Given the description of an element on the screen output the (x, y) to click on. 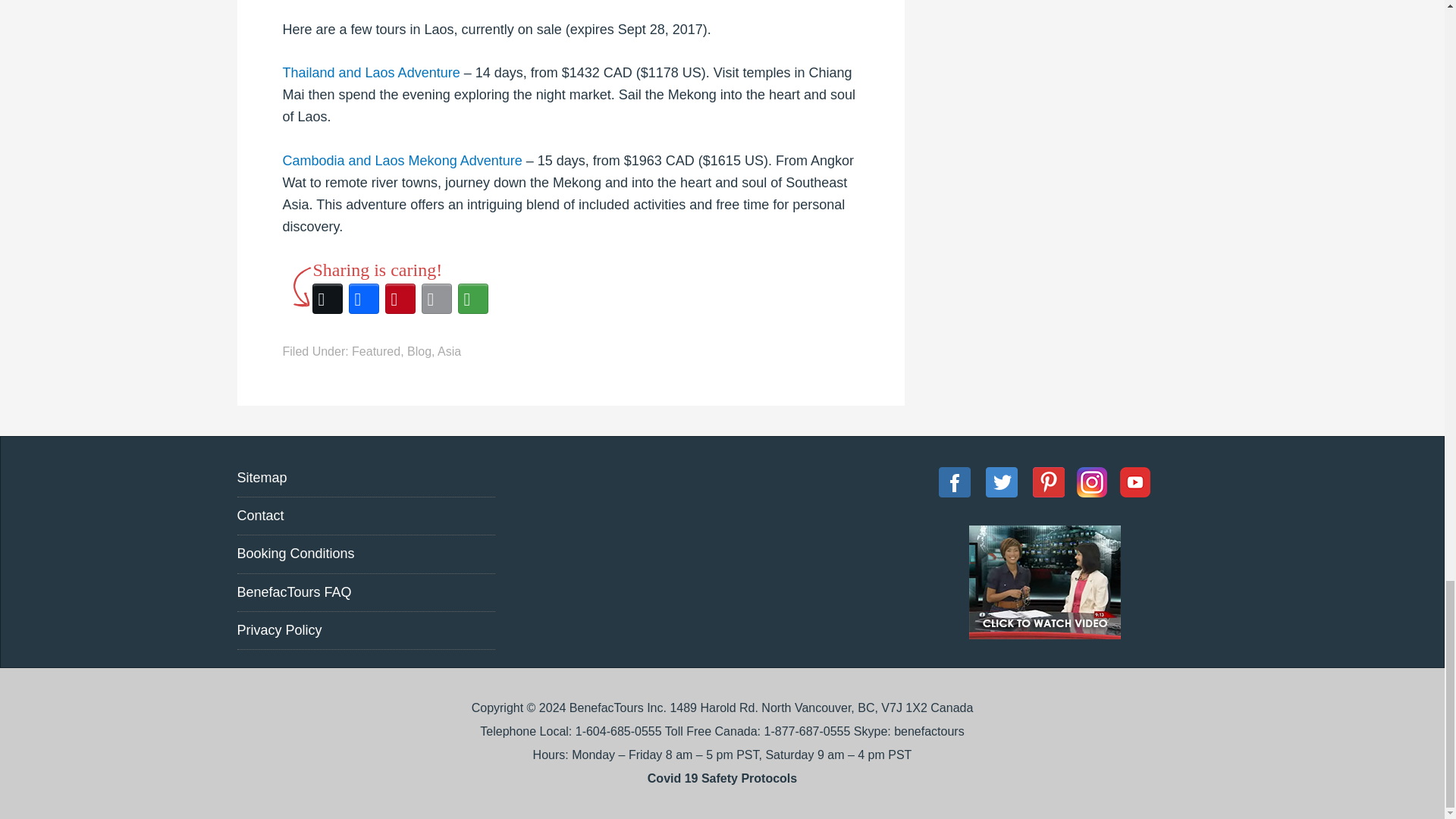
Email This (436, 298)
Asia (449, 350)
Sitemap (260, 477)
Featured (376, 350)
Facebook (363, 298)
Blog (418, 350)
Thailand and Laos Adventure (371, 72)
More Options (473, 298)
Cambodia and Laos Mekong Adventure (401, 160)
Pinterest (400, 298)
